Given the description of an element on the screen output the (x, y) to click on. 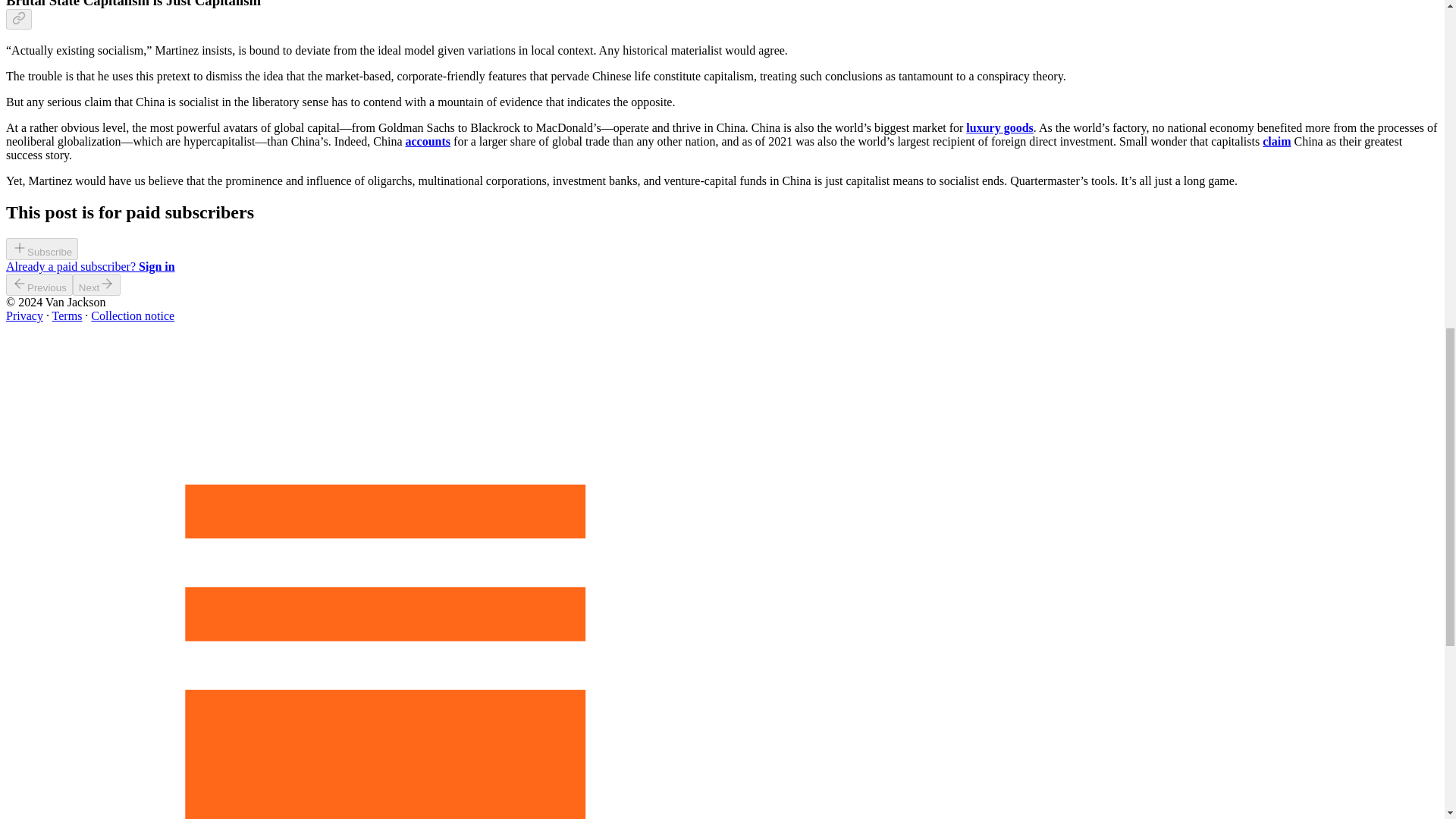
Previous (38, 284)
accounts (428, 141)
claim (1276, 141)
Collection notice (132, 315)
Subscribe (41, 249)
Next (96, 284)
luxury goods (999, 127)
Already a paid subscriber? Sign in (89, 266)
Privacy (24, 315)
Subscribe (41, 250)
